Given the description of an element on the screen output the (x, y) to click on. 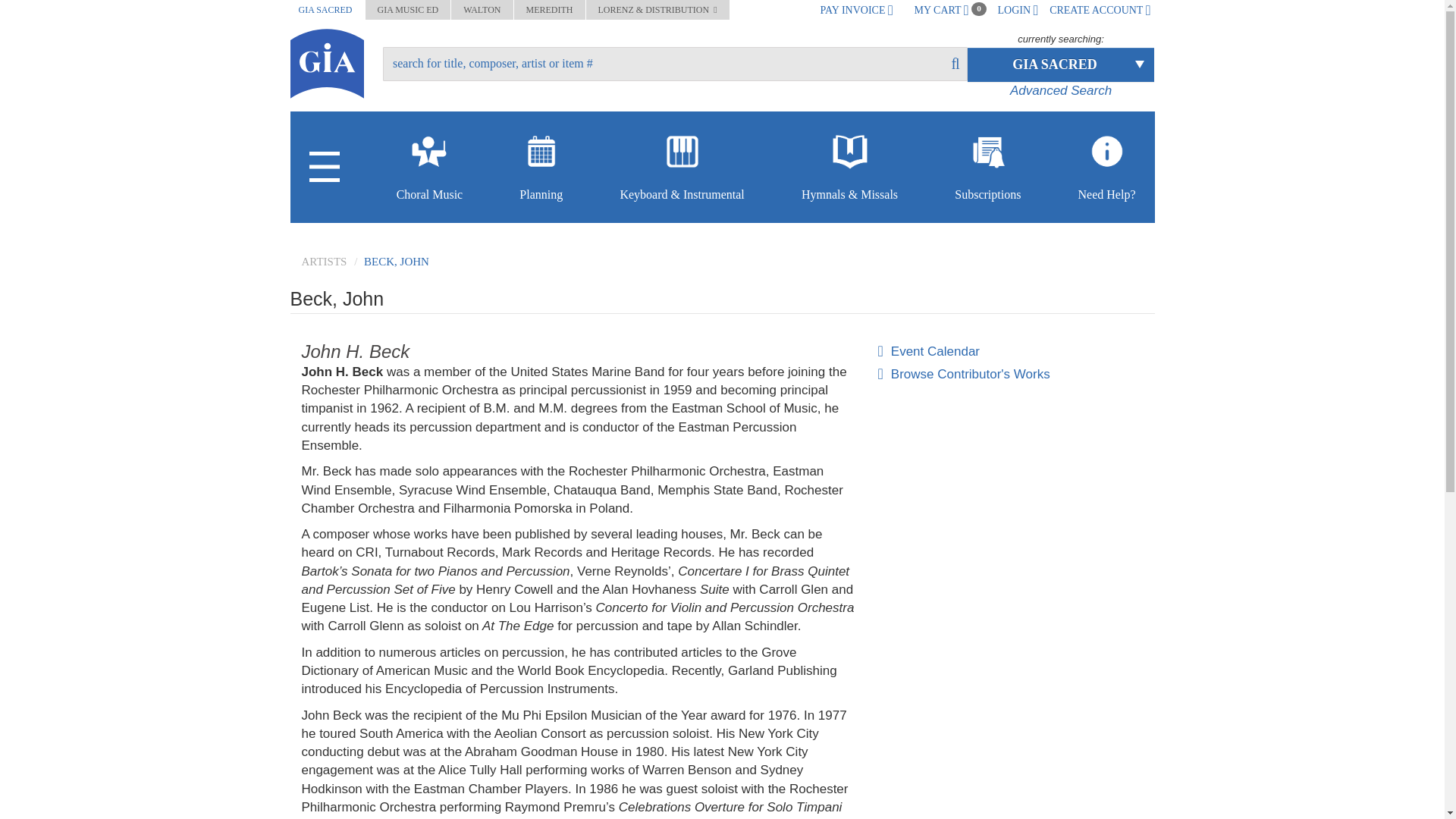
GIA PUBLICATIONS, INC. (325, 62)
